Given the description of an element on the screen output the (x, y) to click on. 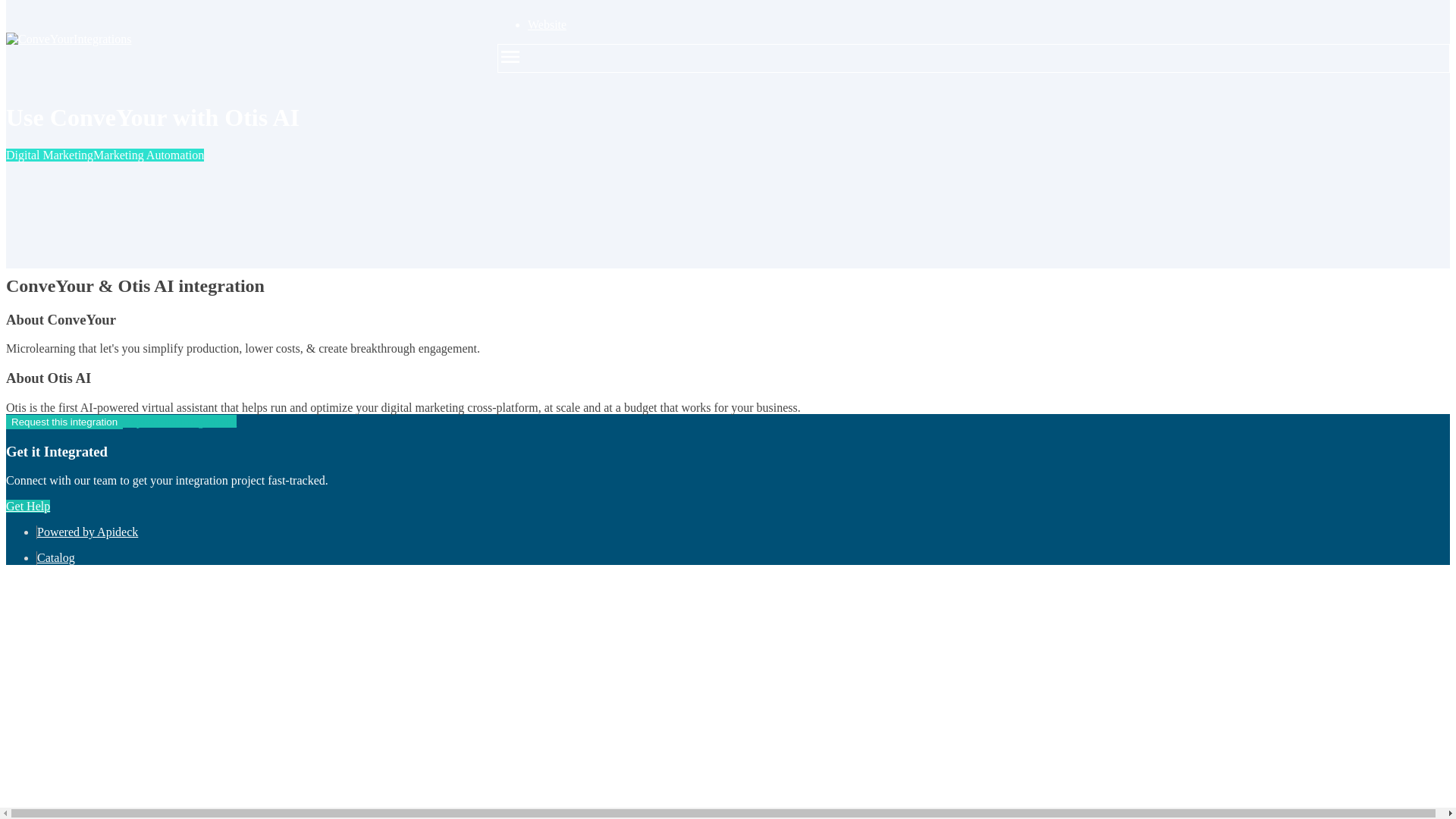
Request this integration (63, 253)
ConveYour (39, 38)
Catalog (56, 557)
Powered by Apideck (87, 531)
ConveYour (39, 225)
Explore all integrations (178, 420)
Explore all integrations (178, 252)
Integrations (236, 38)
Get Help (27, 505)
Website (546, 24)
Otis AI (29, 239)
Request this integration (63, 421)
